Given the description of an element on the screen output the (x, y) to click on. 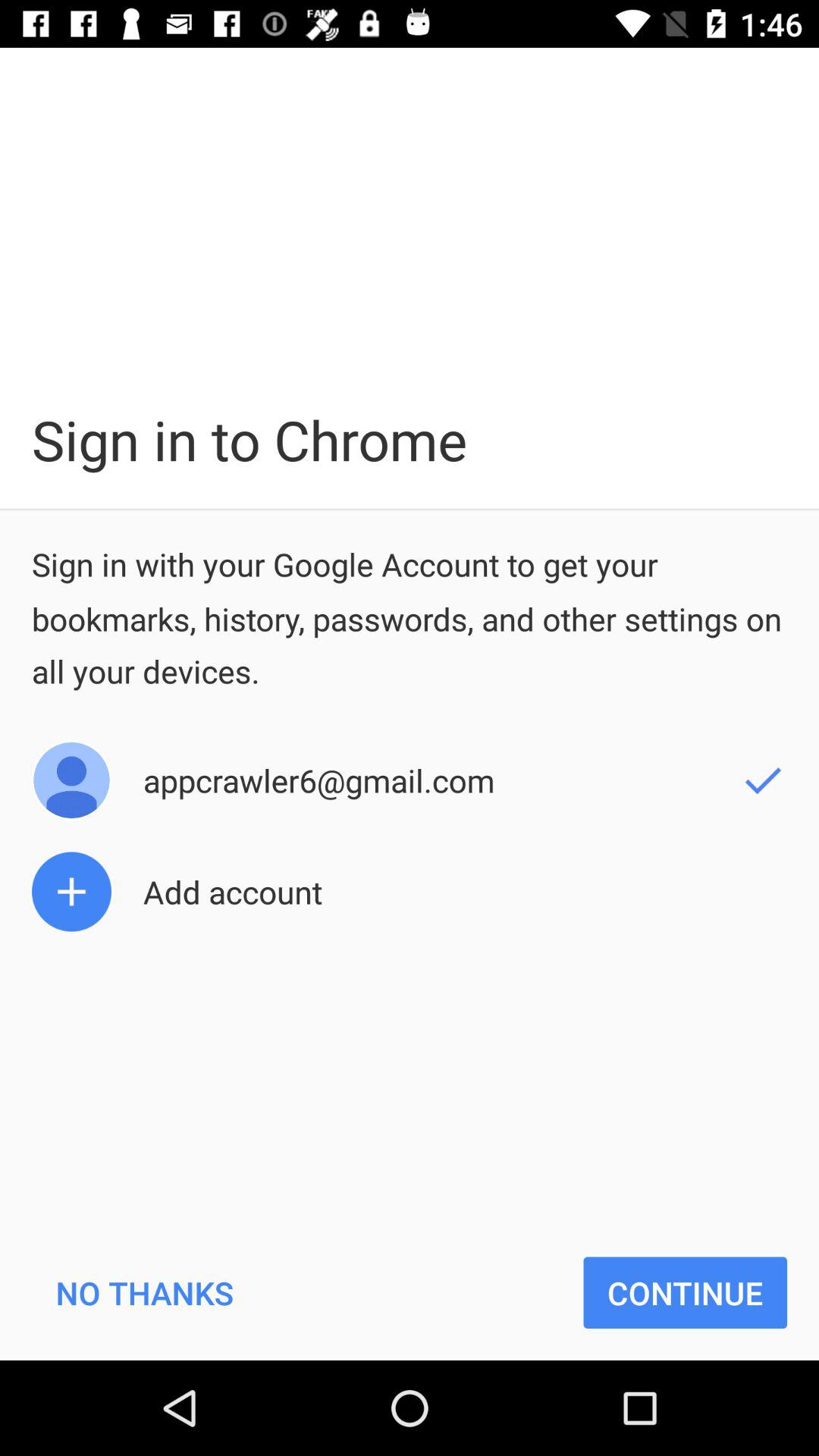
open the item below the add account (685, 1292)
